Given the description of an element on the screen output the (x, y) to click on. 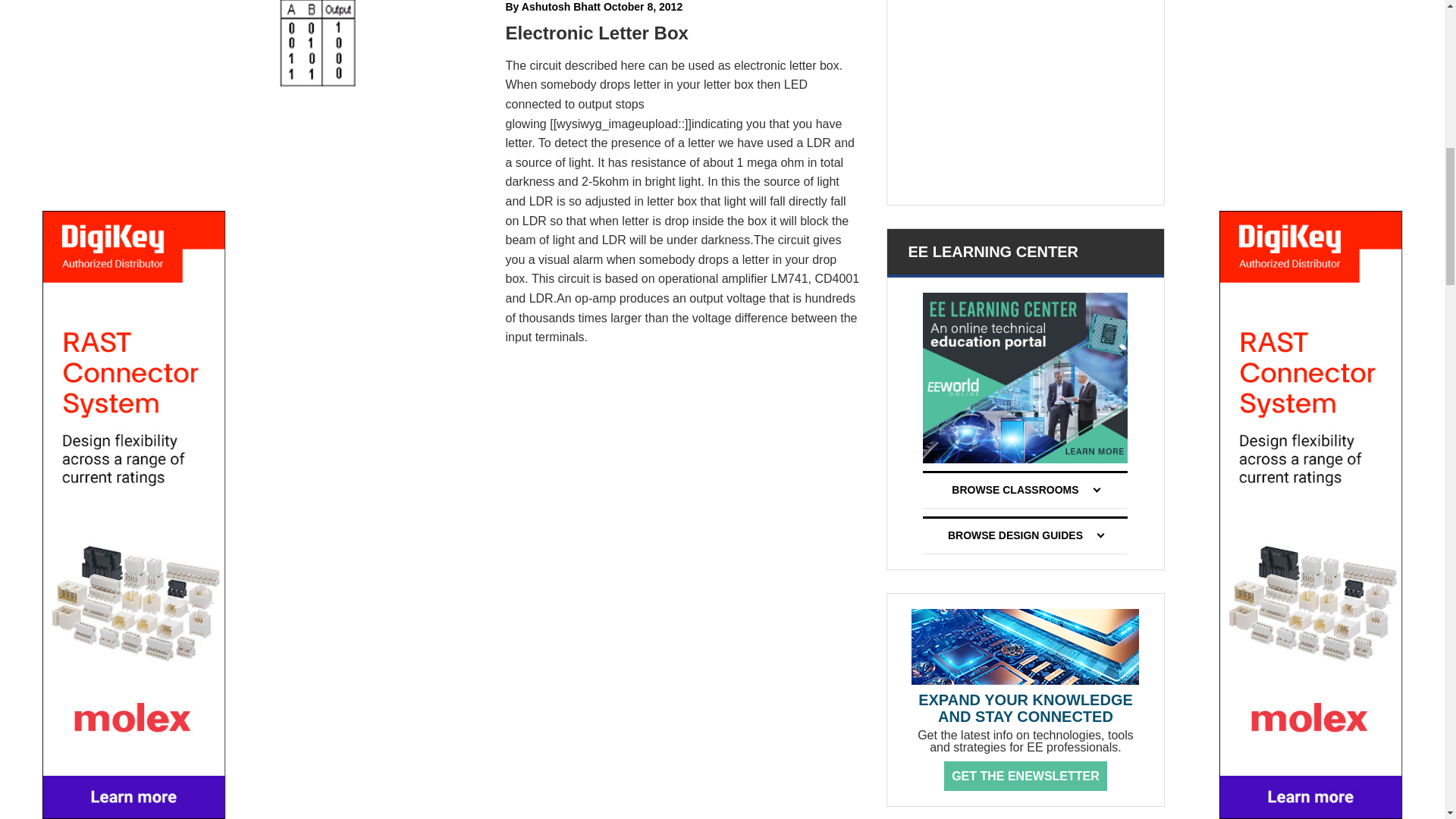
3rd party ad content (1024, 94)
